Given the description of an element on the screen output the (x, y) to click on. 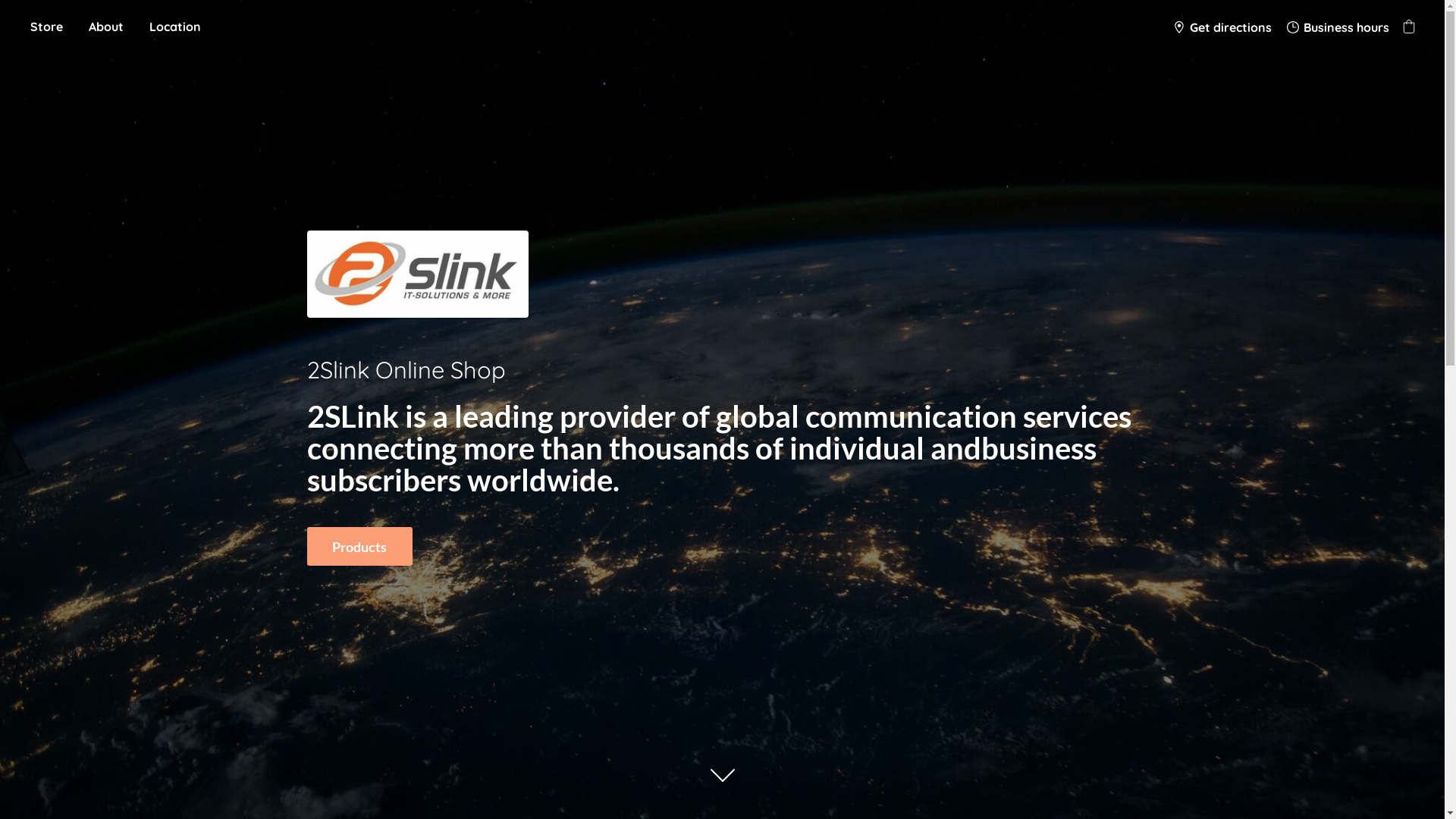
About Element type: text (105, 26)
Products Element type: text (359, 546)
Get directions Element type: text (1222, 26)
Store Element type: text (46, 26)
Location Element type: text (175, 26)
Business hours Element type: text (1337, 26)
